Given the description of an element on the screen output the (x, y) to click on. 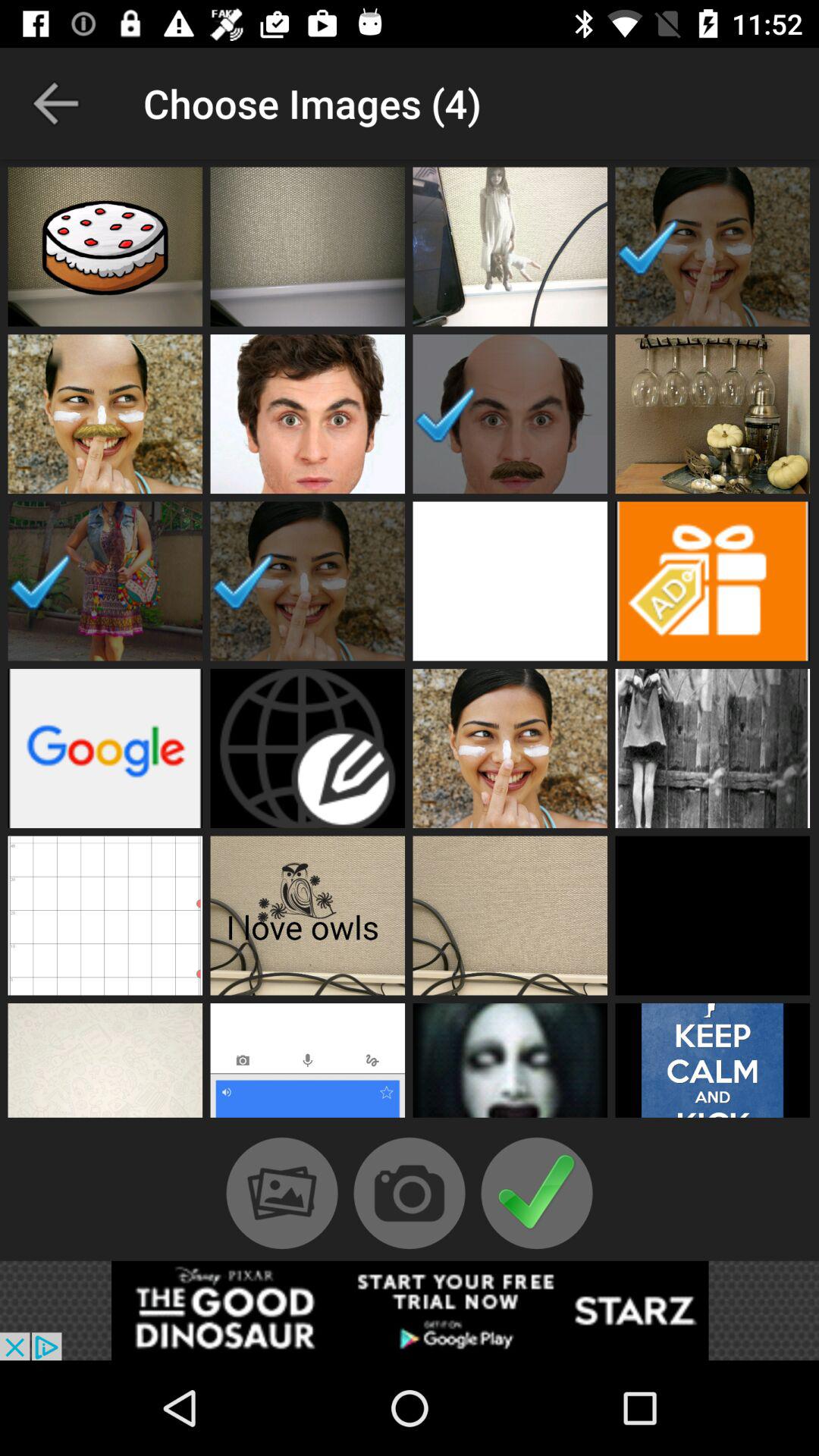
select the image (509, 748)
